Given the description of an element on the screen output the (x, y) to click on. 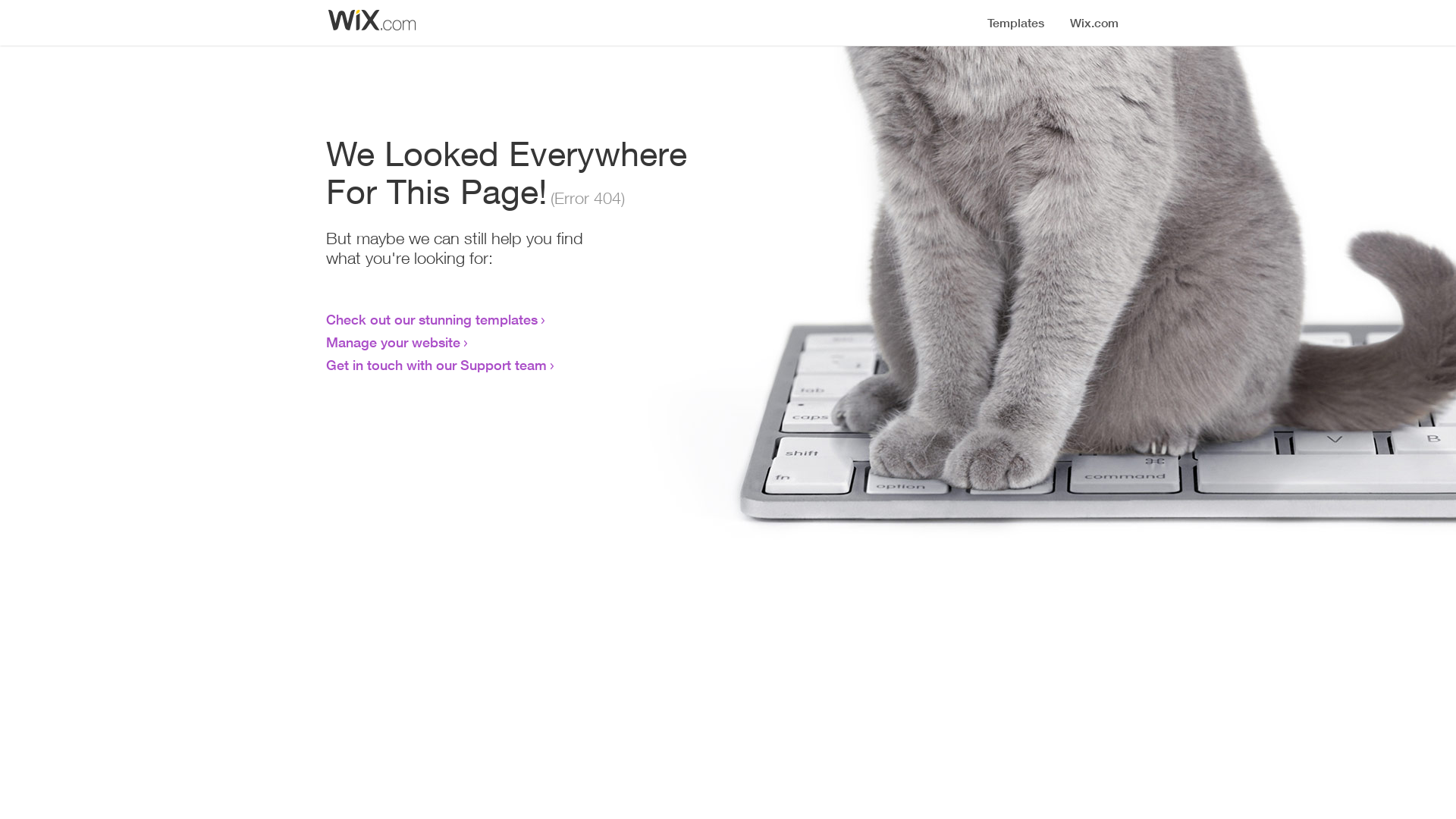
Check out our stunning templates Element type: text (431, 318)
Get in touch with our Support team Element type: text (436, 364)
Manage your website Element type: text (393, 341)
